Given the description of an element on the screen output the (x, y) to click on. 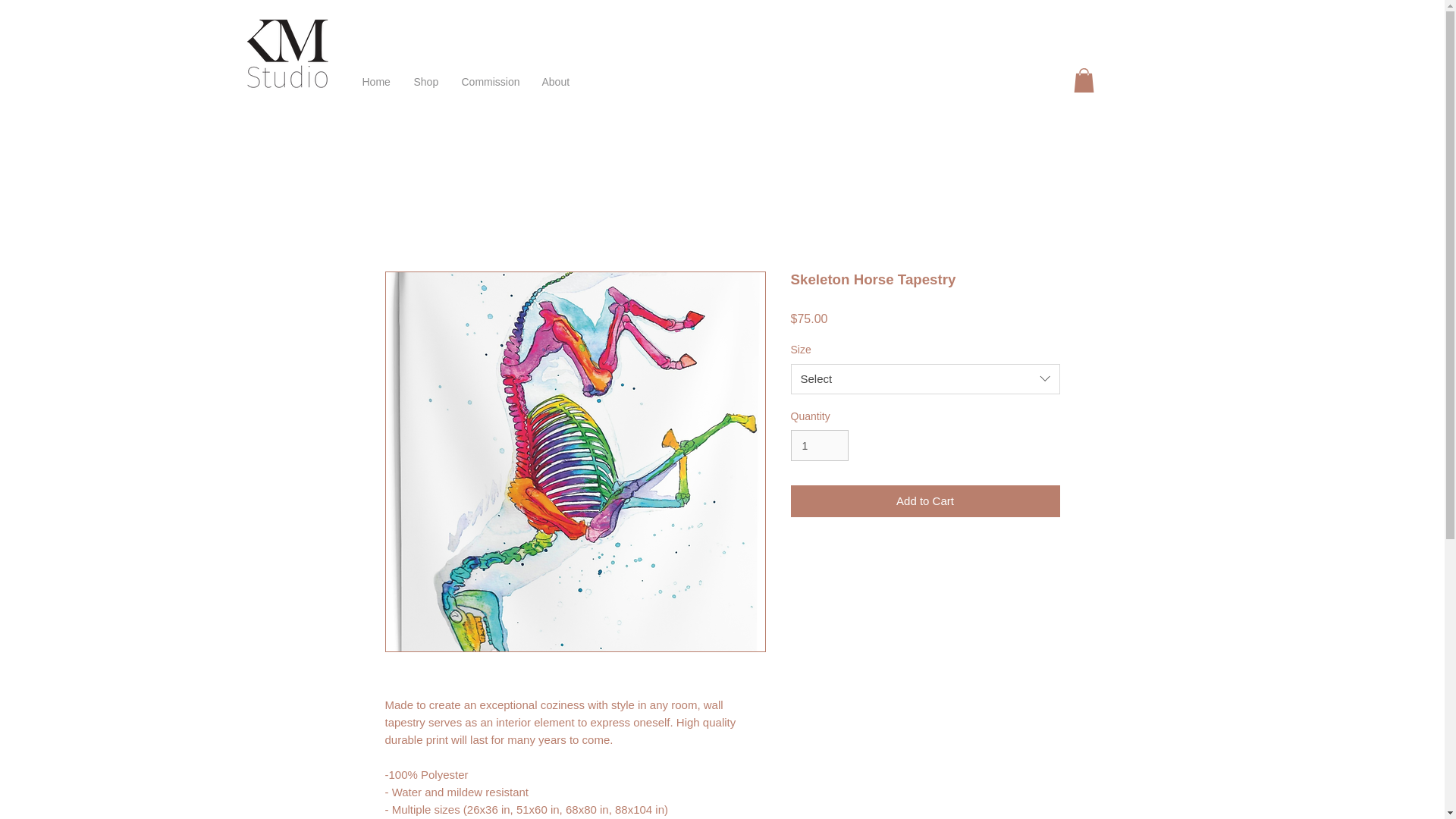
Add to Cart (924, 501)
About (557, 81)
Shop (425, 81)
Home (375, 81)
Commission (490, 81)
1 (818, 445)
Select (924, 378)
